Given the description of an element on the screen output the (x, y) to click on. 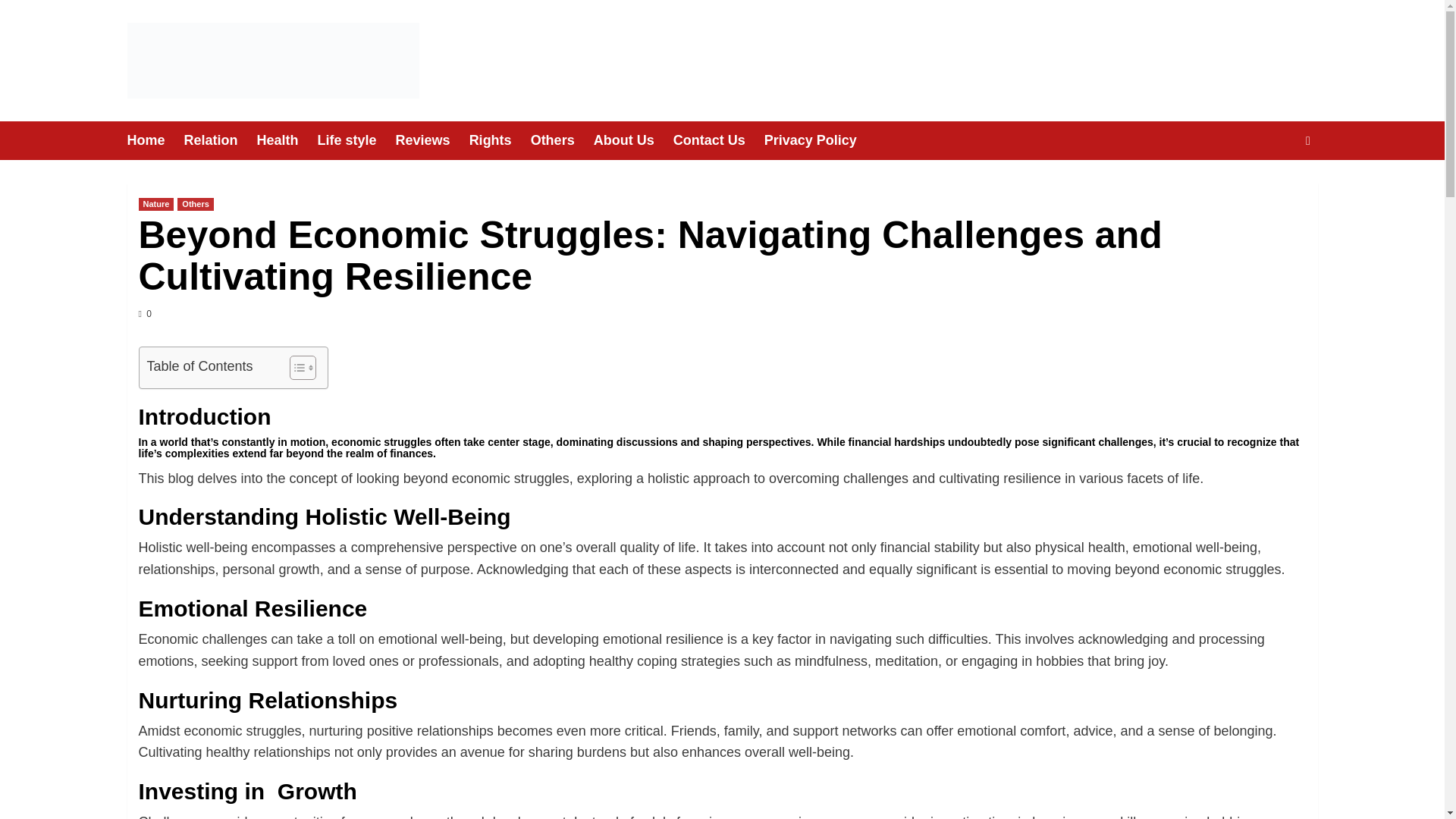
About Us (633, 140)
0 (144, 313)
Rights (499, 140)
Reviews (432, 140)
Privacy Policy (820, 140)
Relation (220, 140)
Others (562, 140)
Life style (356, 140)
Nature (155, 204)
Contact Us (718, 140)
